Given the description of an element on the screen output the (x, y) to click on. 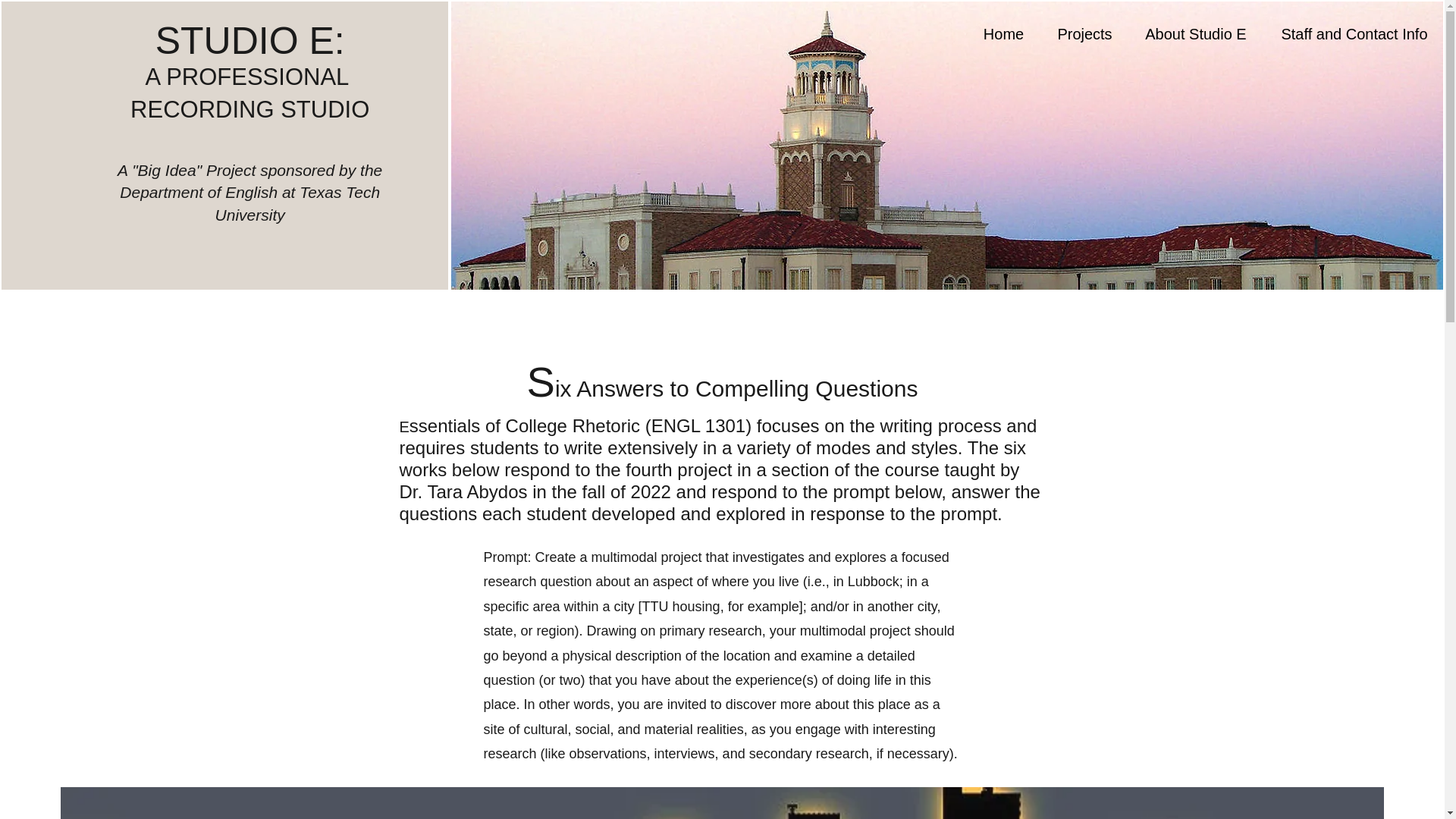
A PROFESSIONAL  (250, 76)
Home (1003, 34)
Projects (1084, 34)
RECORDING STUDIO (250, 109)
About Studio E (1195, 34)
STUDIO E: (250, 40)
